Given the description of an element on the screen output the (x, y) to click on. 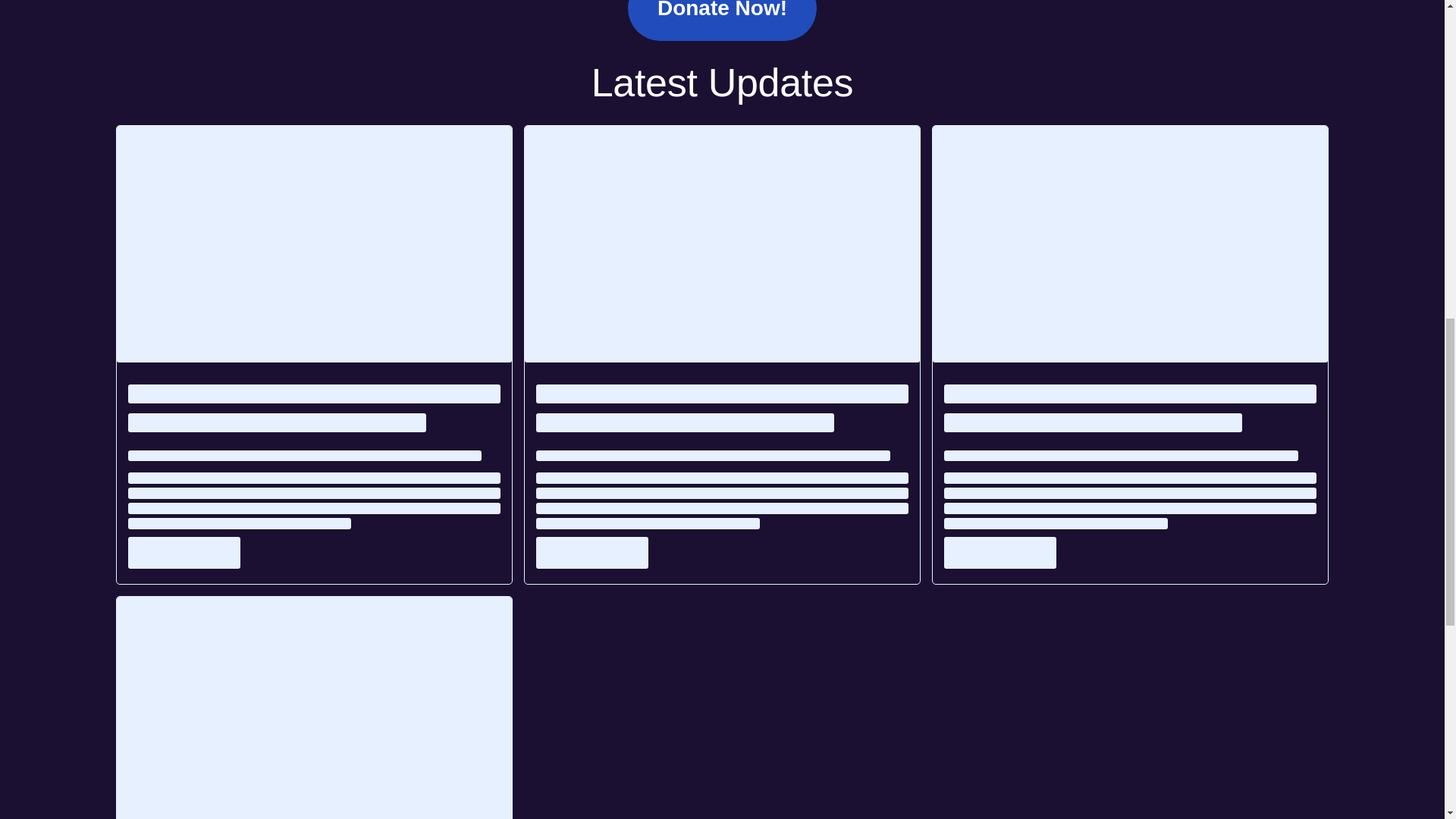
Donate Now! (721, 20)
